Given the description of an element on the screen output the (x, y) to click on. 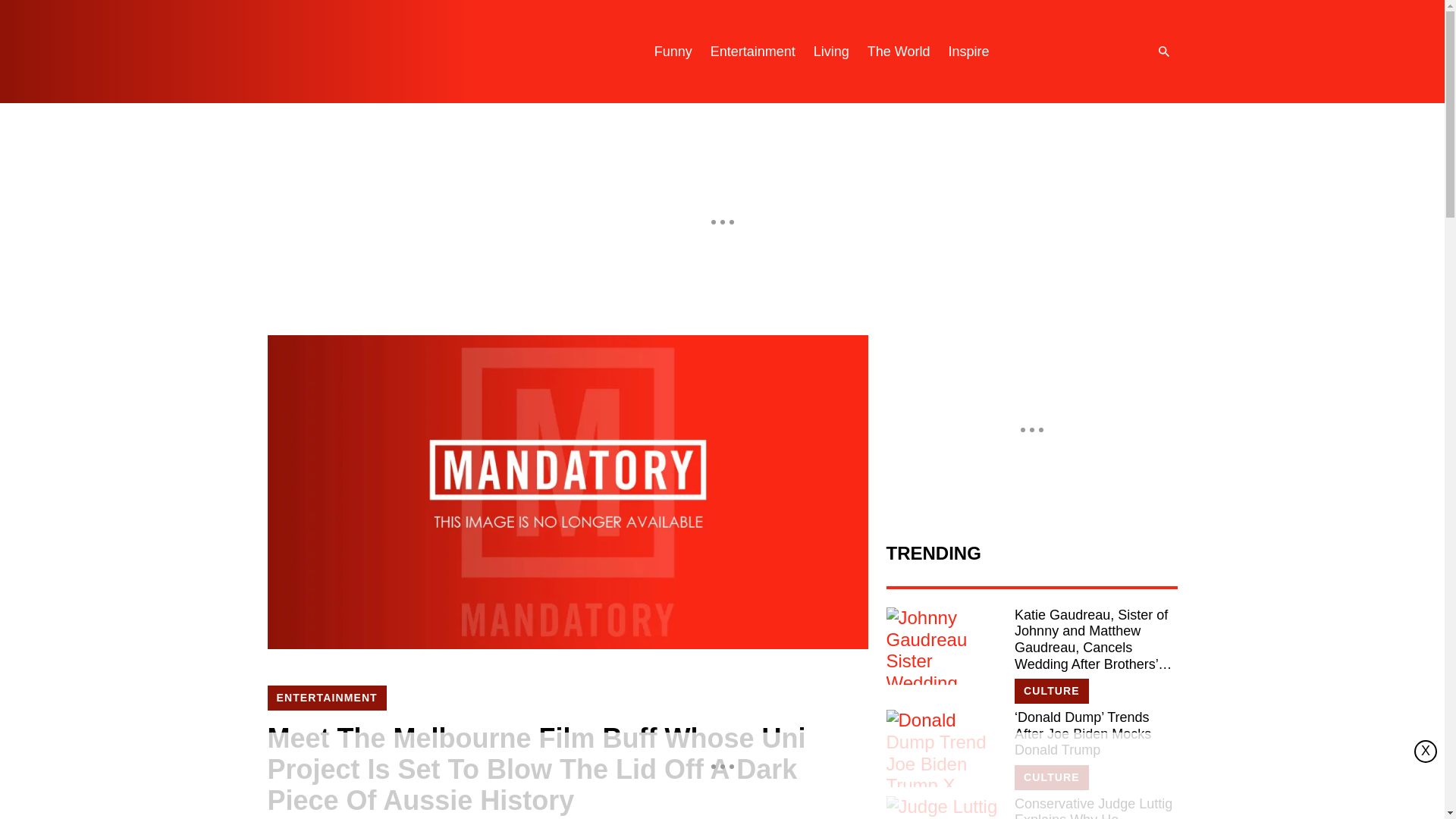
ENTERTAINMENT (325, 697)
Instagram (1048, 51)
CULTURE (1051, 690)
Entertainment (753, 51)
Funny (673, 51)
Facebook (1109, 51)
CULTURE (1051, 777)
